Given the description of an element on the screen output the (x, y) to click on. 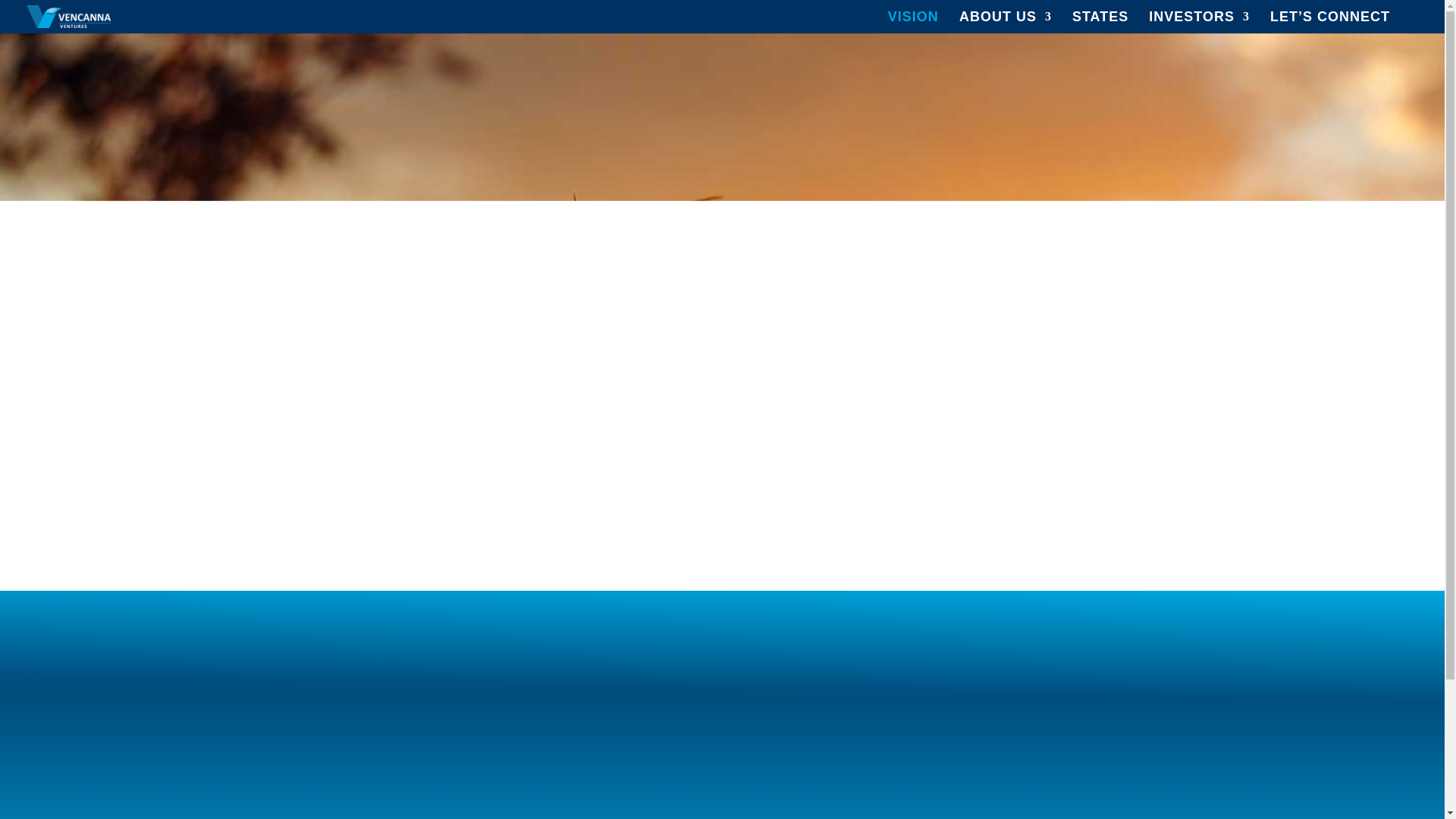
ABOUT US (1005, 22)
VISION (913, 22)
INVESTORS (1198, 22)
STATES (1099, 22)
